Given the description of an element on the screen output the (x, y) to click on. 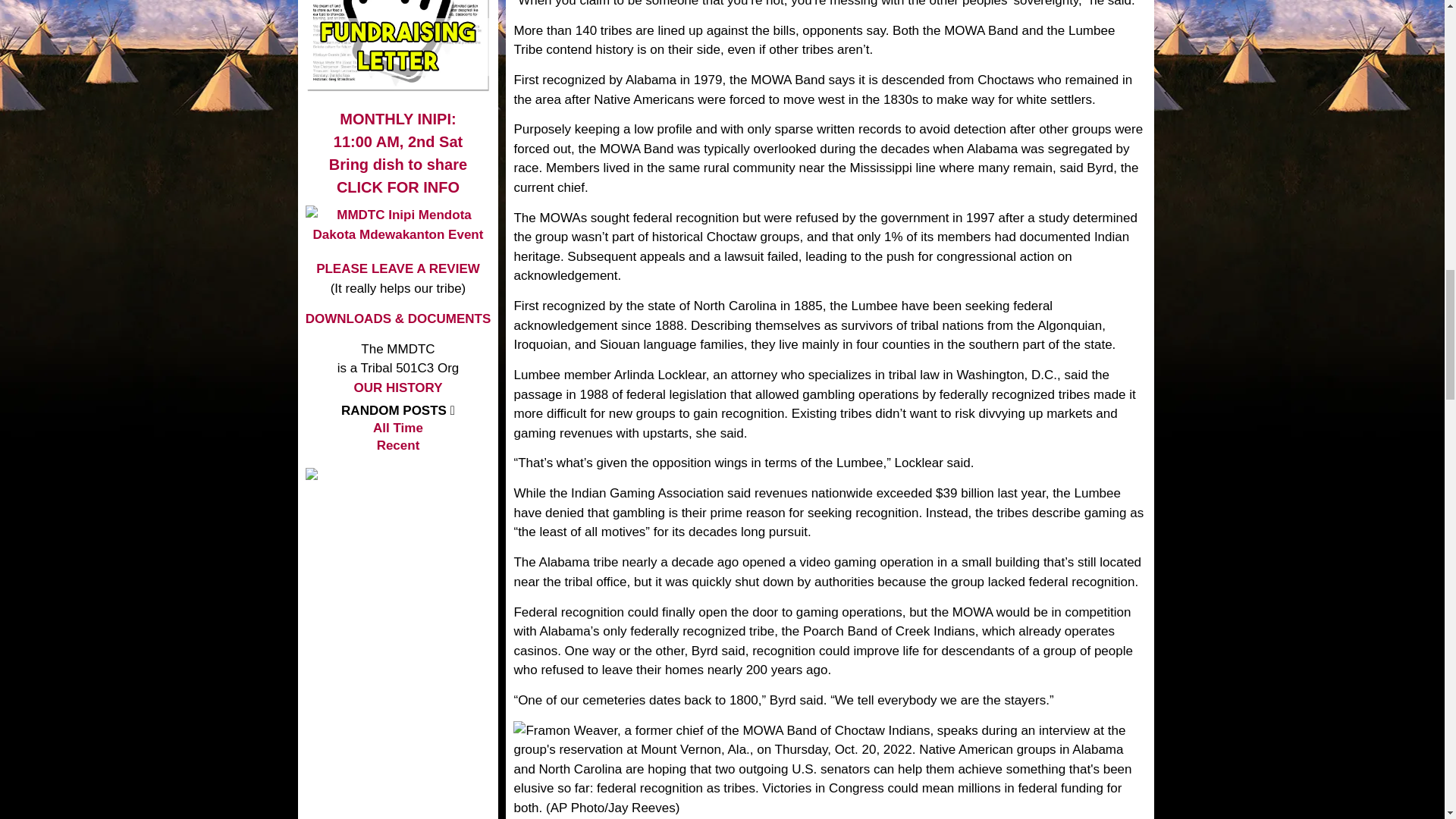
PLEASE LEAVE A REVIEW (398, 129)
OUR HISTORY (397, 268)
